Given the description of an element on the screen output the (x, y) to click on. 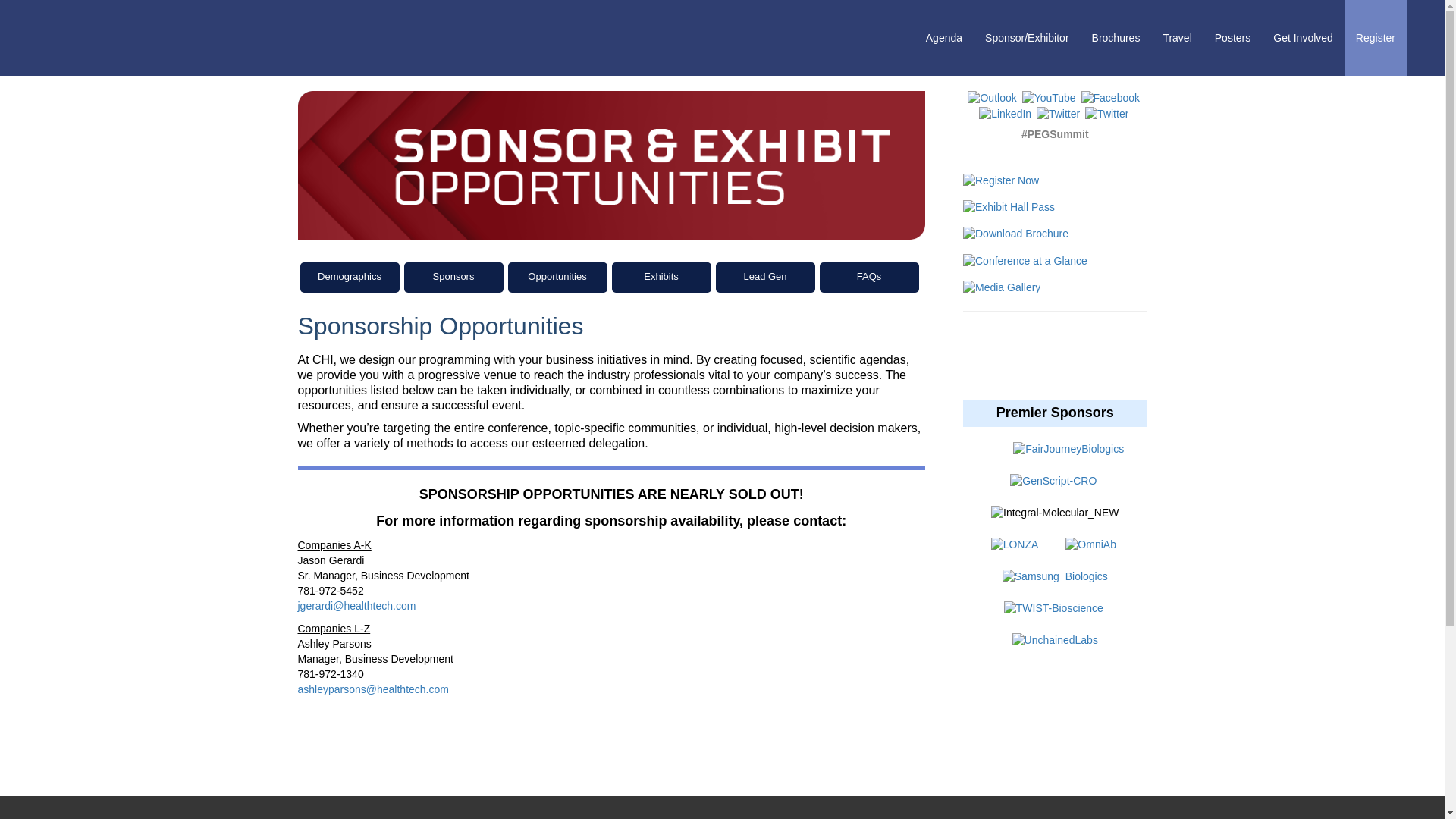
FAQs (868, 277)
Exhibit Services (660, 277)
Outlook (992, 97)
Twitter (1058, 114)
The Chain Podcast (1107, 112)
LinkedIn (1005, 112)
Current Sponsors (348, 277)
Brochures (1115, 38)
Sponsorship Opportunities (452, 277)
Exhibits (557, 277)
